Given the description of an element on the screen output the (x, y) to click on. 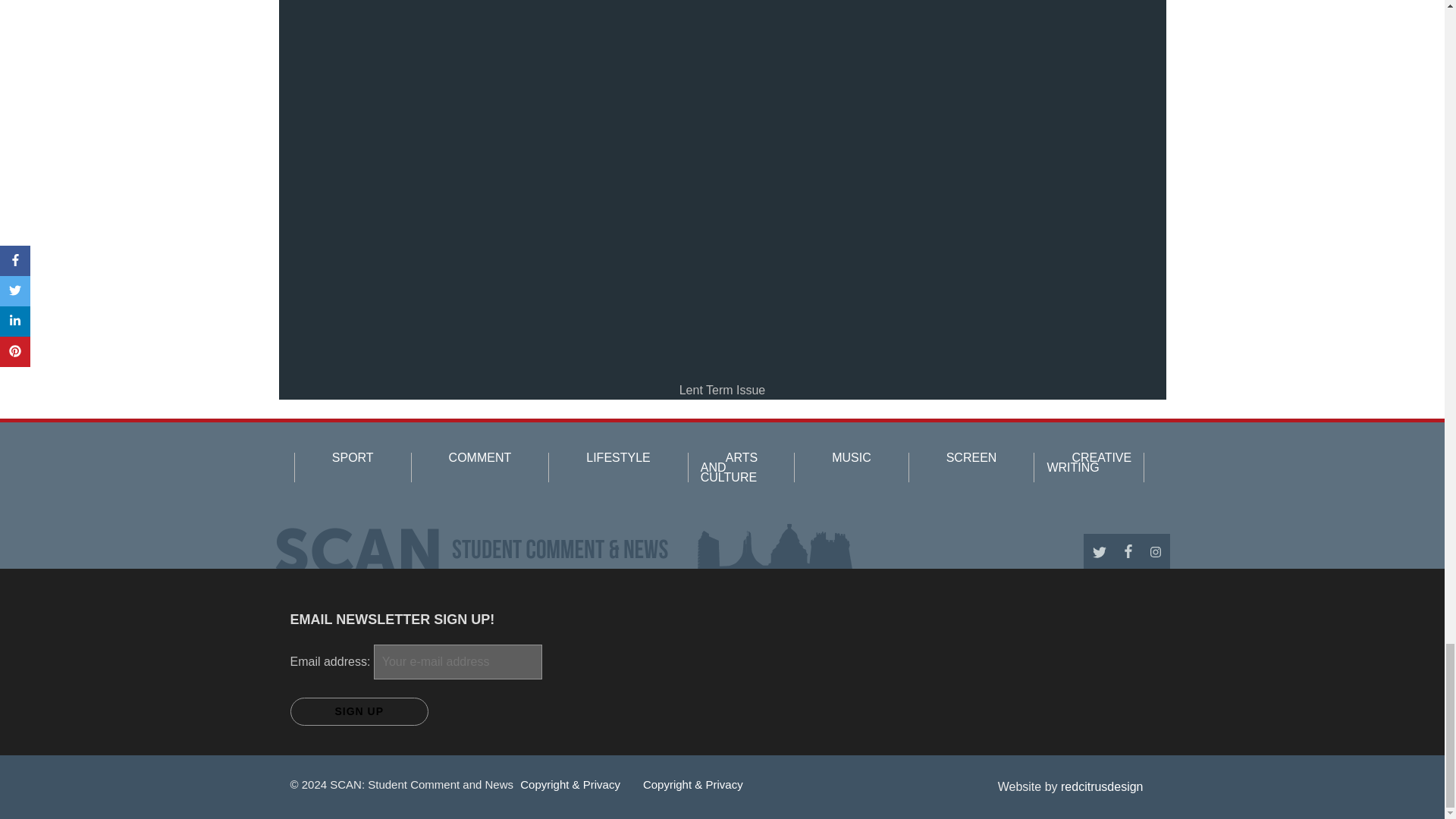
Lent Term Issue  (722, 390)
Sign up (358, 711)
